Given the description of an element on the screen output the (x, y) to click on. 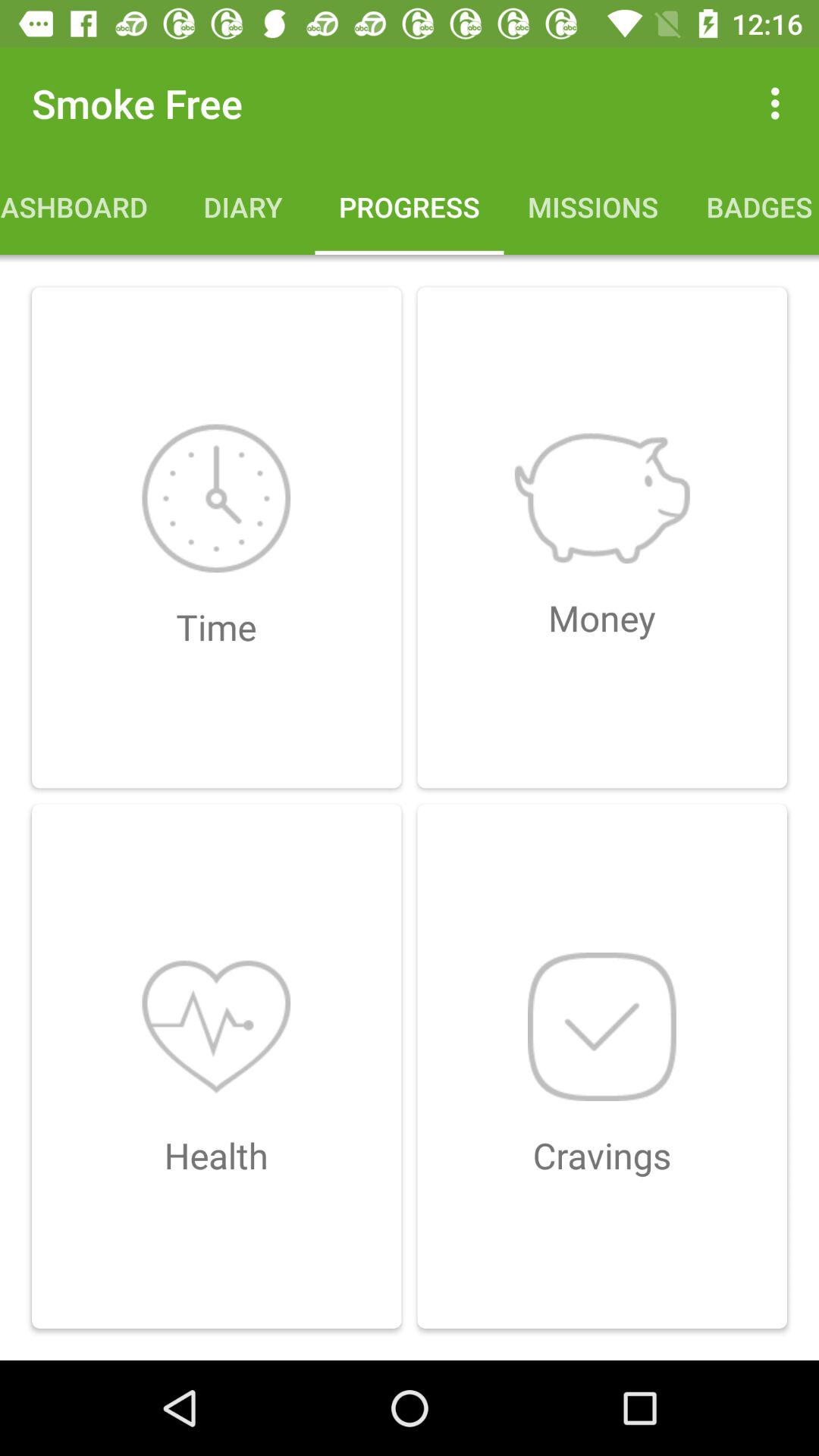
turn on icon to the right of smoke free (779, 103)
